Given the description of an element on the screen output the (x, y) to click on. 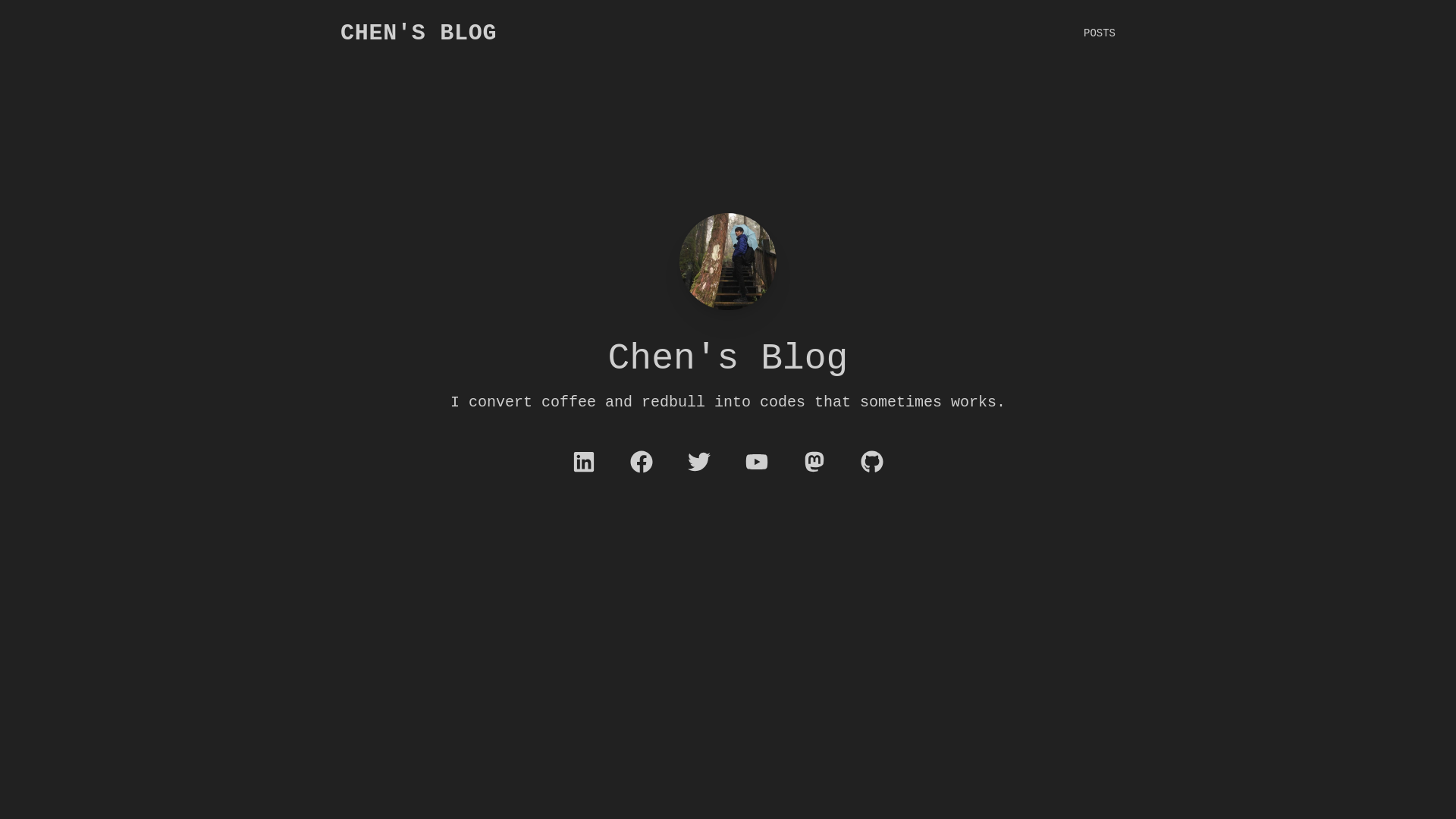
CHEN'S BLOG Element type: text (418, 33)
POSTS Element type: text (1099, 33)
